Given the description of an element on the screen output the (x, y) to click on. 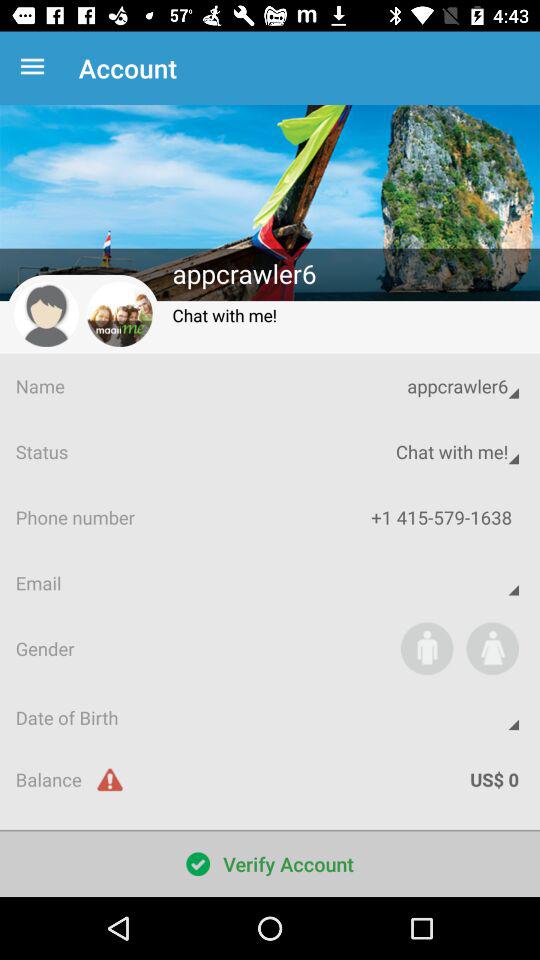
open verify account icon (270, 863)
